Given the description of an element on the screen output the (x, y) to click on. 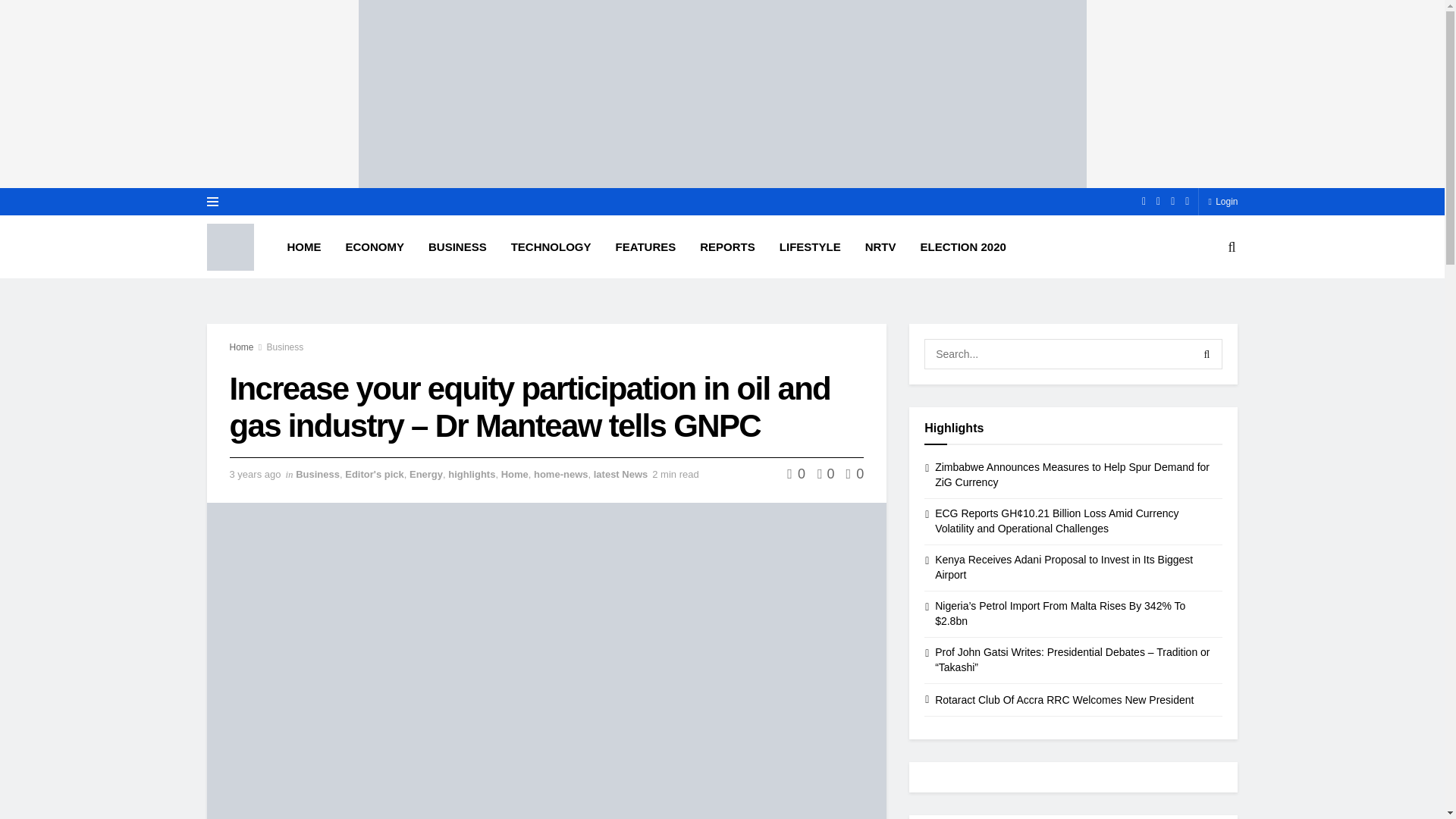
REPORTS (727, 246)
BUSINESS (457, 246)
FEATURES (646, 246)
ECONOMY (374, 246)
TECHNOLOGY (551, 246)
Login (1222, 201)
HOME (304, 246)
